Given the description of an element on the screen output the (x, y) to click on. 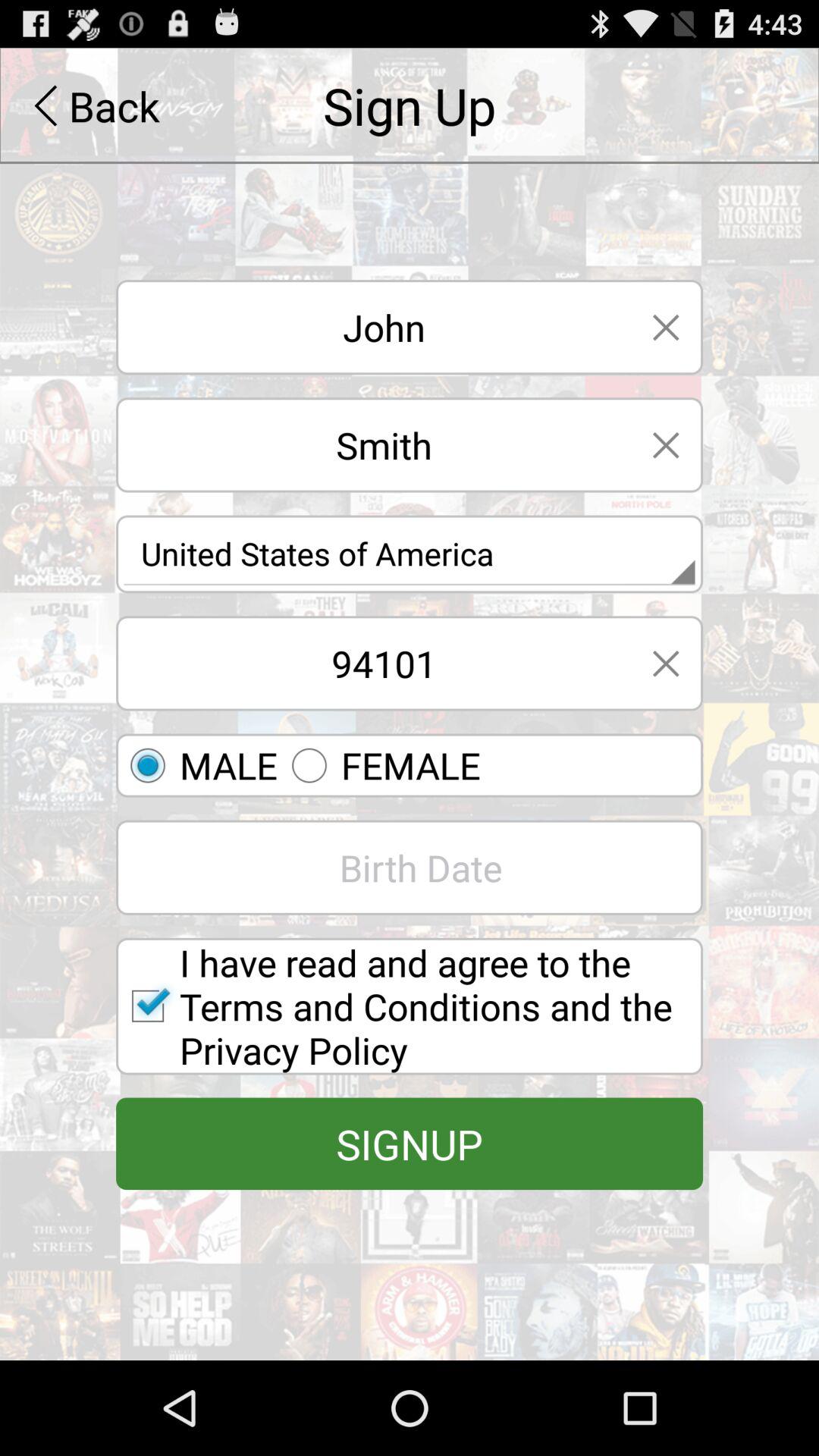
clear field (665, 663)
